Given the description of an element on the screen output the (x, y) to click on. 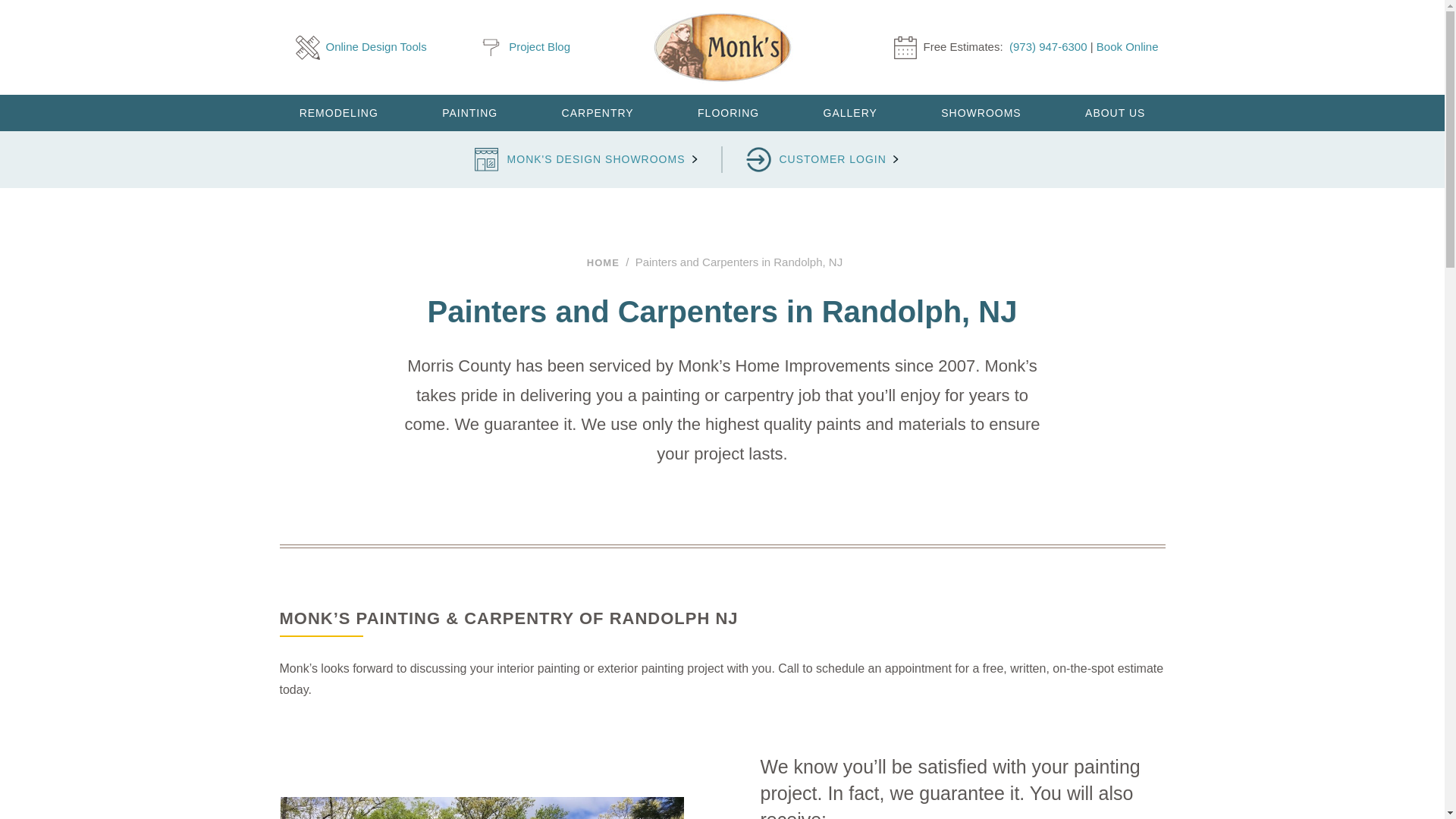
REMODELING (337, 113)
Project Blog (524, 46)
SHOWROOMS (980, 113)
Online Design Tools (360, 46)
FLOORING (727, 113)
Book Online (1127, 46)
PAINTING (469, 113)
CARPENTRY (597, 113)
GALLERY (849, 113)
